Given the description of an element on the screen output the (x, y) to click on. 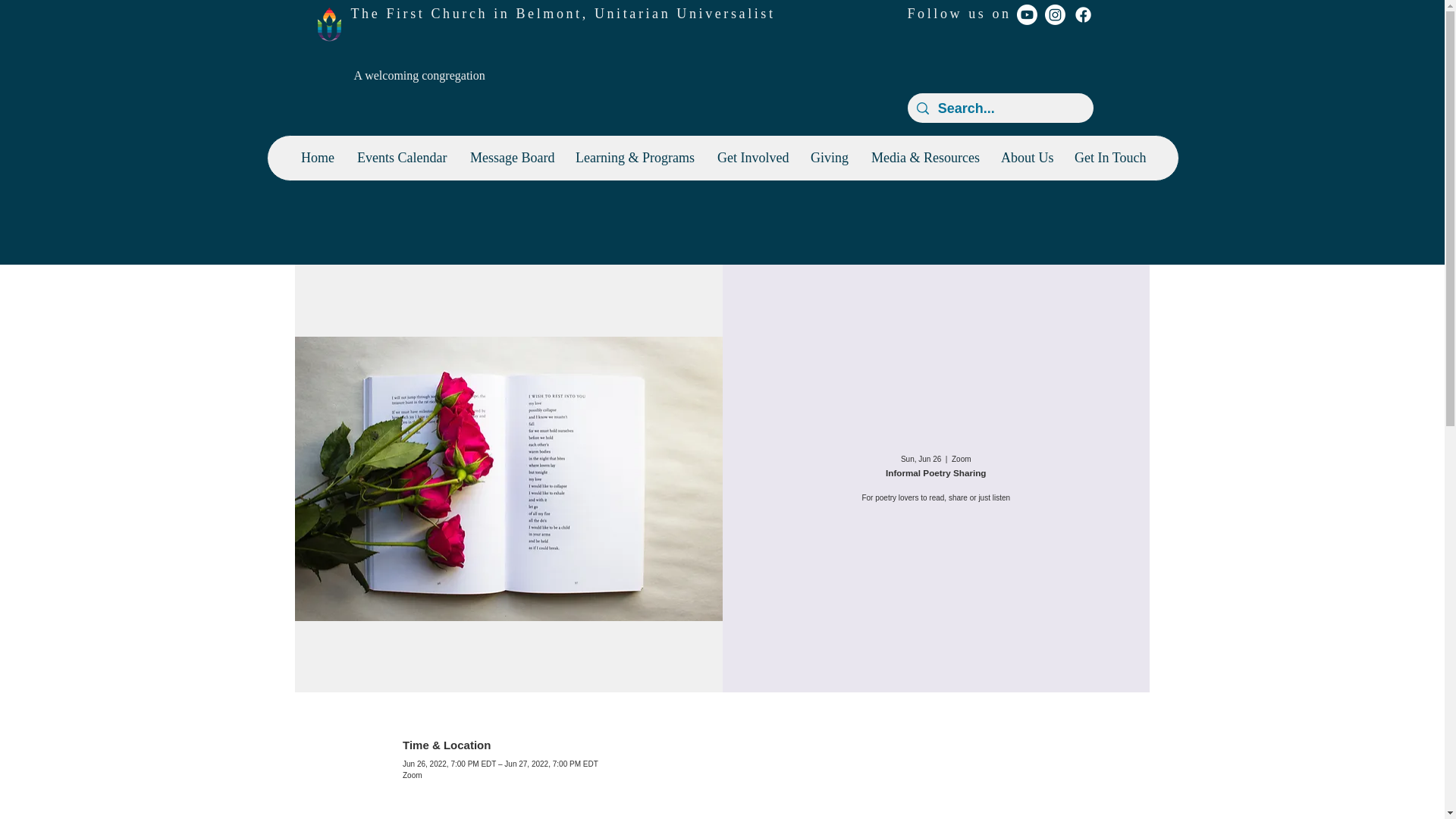
The (367, 13)
Events Calendar (401, 157)
First Church in Belmont, Unitarian Universalist (579, 13)
Message Board (510, 157)
Follow us on (958, 13)
Home (316, 157)
